Given the description of an element on the screen output the (x, y) to click on. 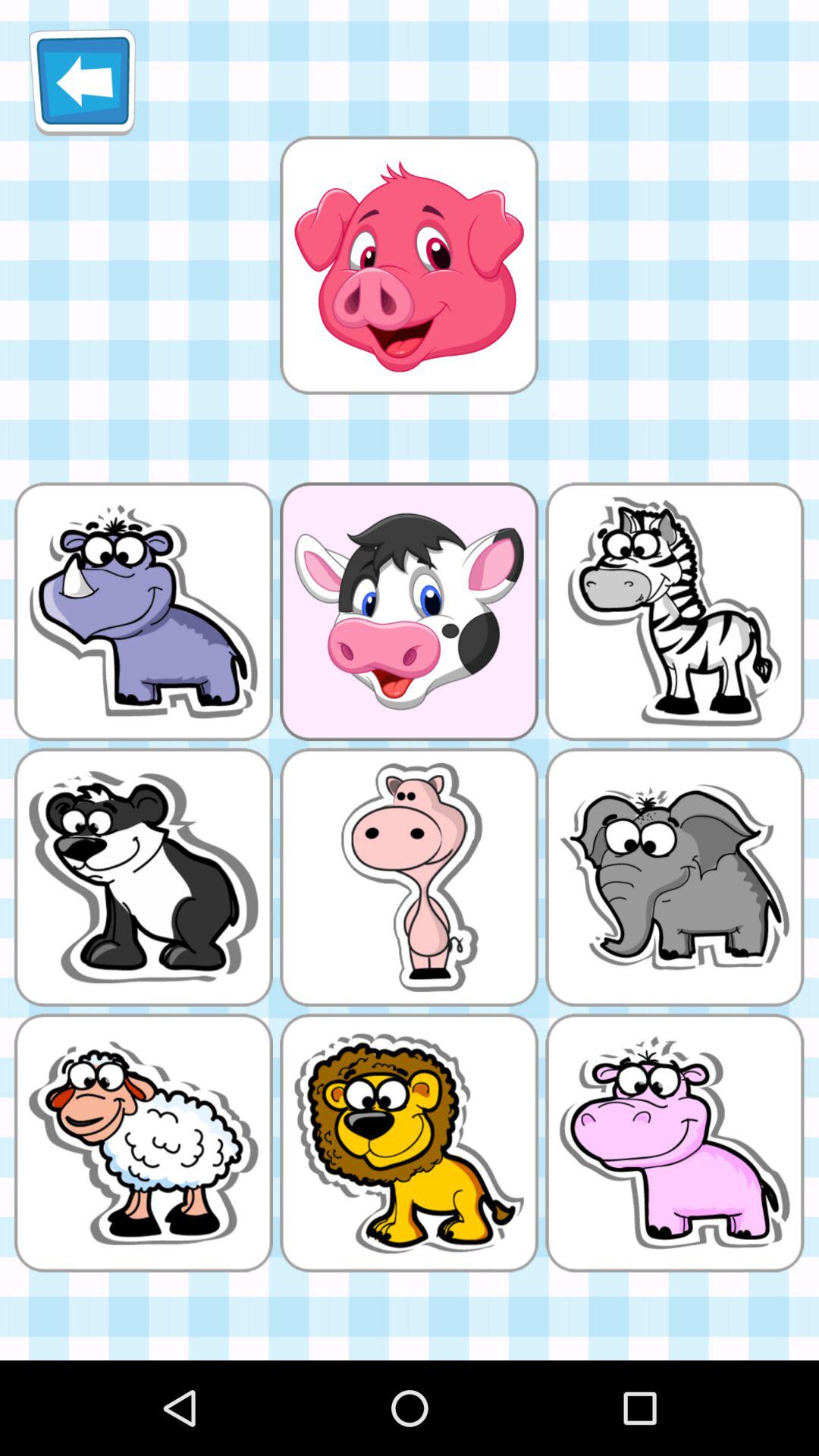
tap item at the top left corner (82, 82)
